Given the description of an element on the screen output the (x, y) to click on. 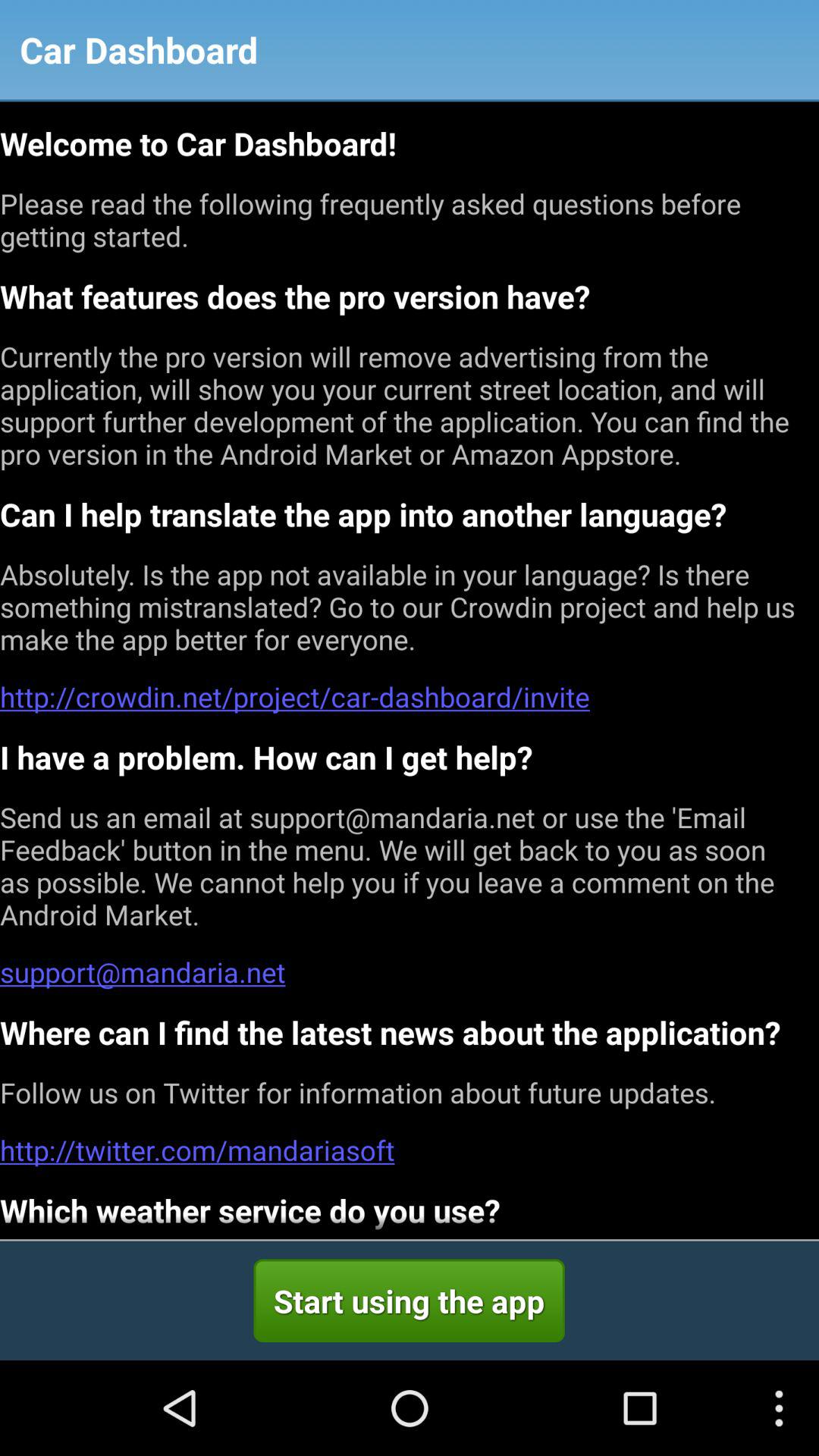
launch start using the button (408, 1300)
